Given the description of an element on the screen output the (x, y) to click on. 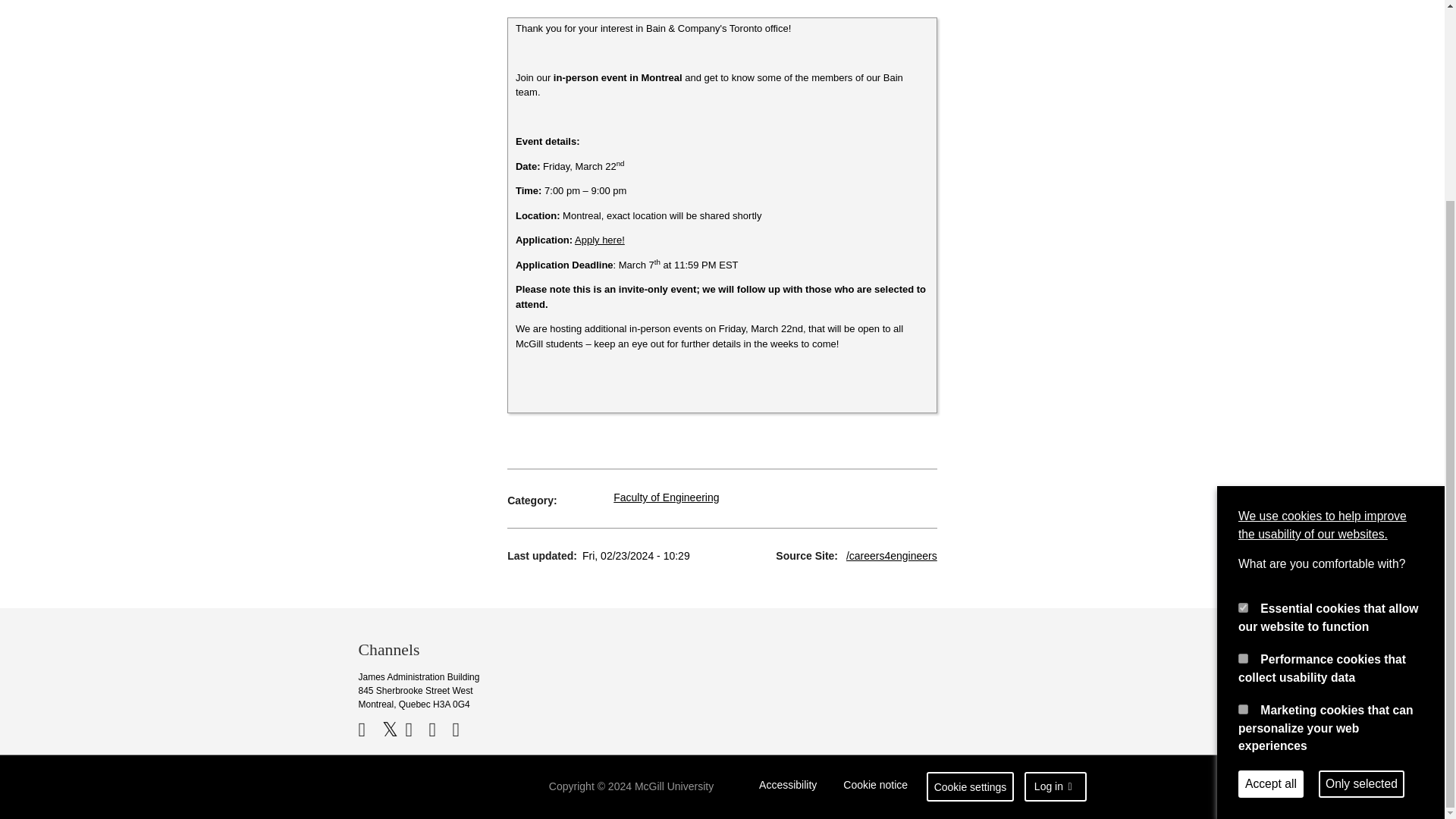
marketing (1243, 453)
Follow us on YouTube (414, 729)
Faculty of Engineering (665, 497)
Cookie settings (970, 786)
performance (1243, 402)
Cookie notice (875, 786)
Accessibility (788, 786)
Accessibility (788, 786)
X (392, 729)
return to McGill University (417, 786)
Facebook (368, 729)
Follow us on Facebook (368, 729)
Cookie notice (875, 786)
Instagram (461, 729)
